Given the description of an element on the screen output the (x, y) to click on. 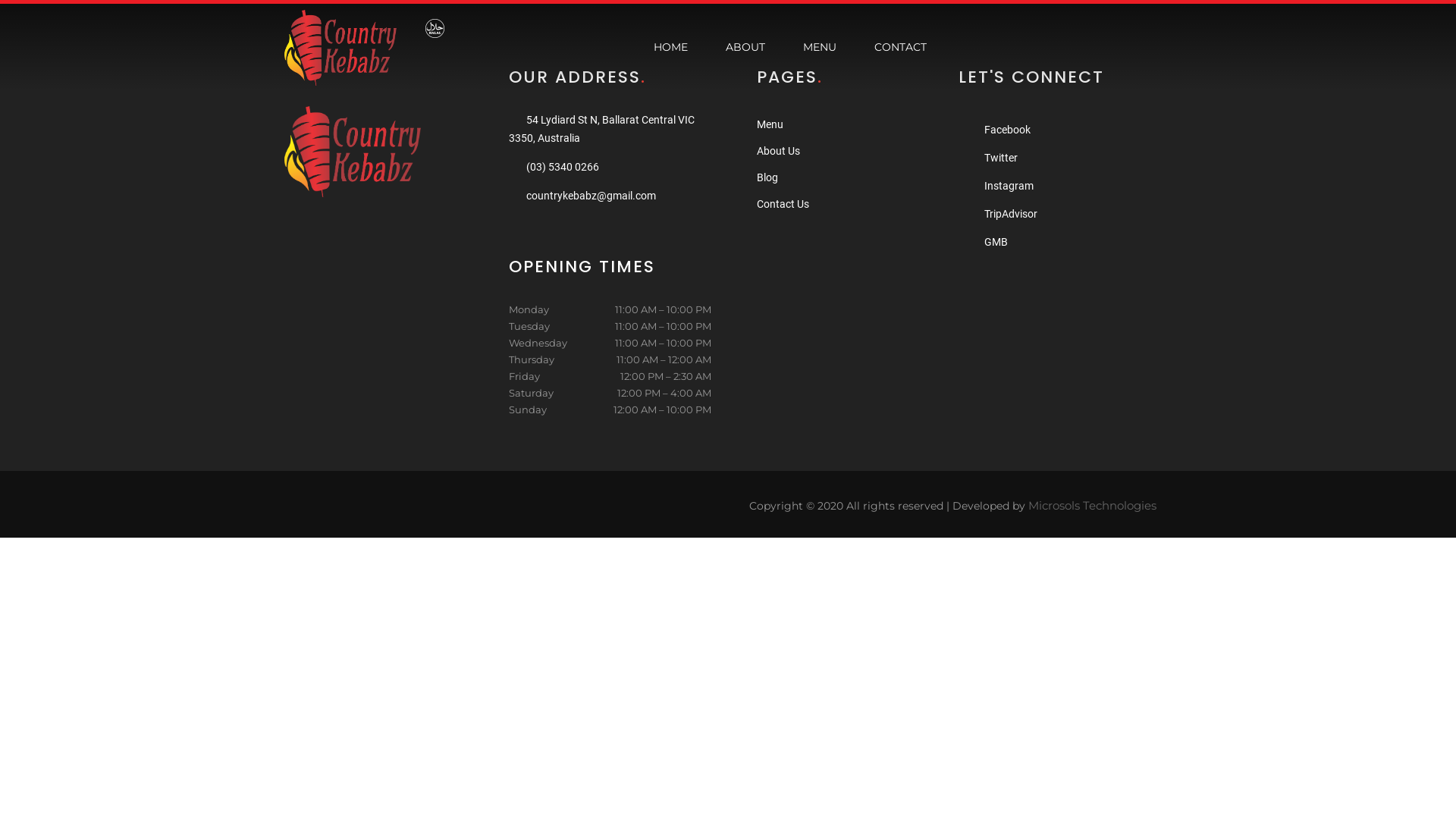
About Us Element type: text (778, 150)
ABOUT Element type: text (745, 47)
Twitter Element type: text (1000, 157)
Facebook Element type: text (1007, 129)
Contact Us Element type: text (782, 203)
MENU Element type: text (819, 47)
HOME Element type: text (670, 47)
TripAdvisor Element type: text (1010, 213)
Menu Element type: text (769, 124)
countrykebabz@gmail.com Element type: text (590, 195)
Microsols Technologies Element type: text (1092, 505)
GMB Element type: text (995, 241)
CONTACT Element type: text (900, 47)
(03) 5340 0266 Element type: text (562, 166)
Instagram Element type: text (1008, 185)
Blog Element type: text (767, 177)
